Given the description of an element on the screen output the (x, y) to click on. 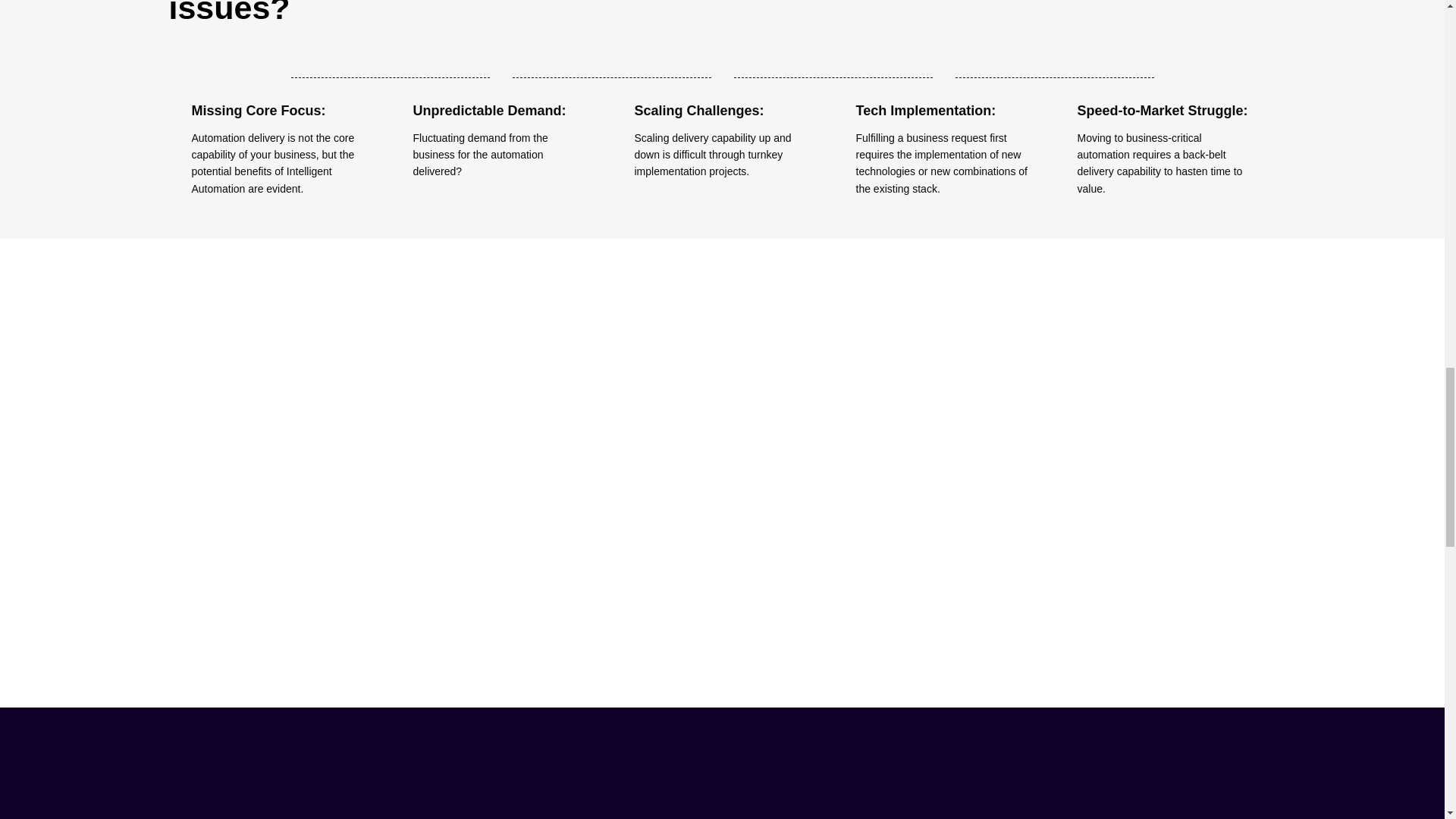
wi01 (721, 467)
iss001 (279, 77)
si02 (342, 467)
iss003 (722, 77)
iss002 (500, 77)
iss005 (1165, 77)
iss02 (944, 77)
hu01 (1100, 467)
